Given the description of an element on the screen output the (x, y) to click on. 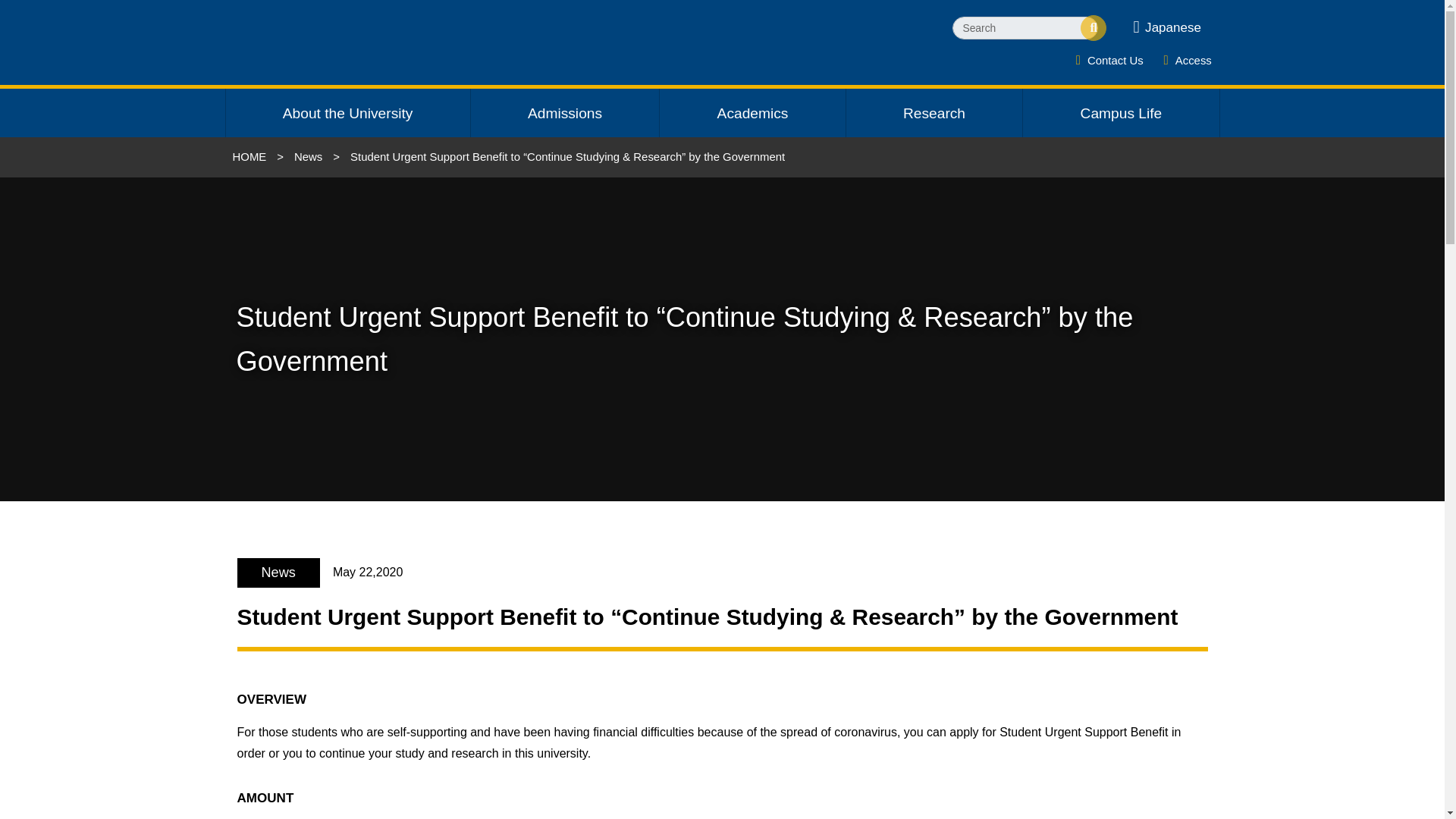
Access (1192, 60)
Campus Life (1120, 112)
Contact Us (1114, 60)
Admissions (564, 112)
Search (1024, 27)
HOME (248, 155)
About the University (347, 112)
Academics (751, 112)
News (307, 155)
Research (934, 112)
Japanese (1166, 27)
